Given the description of an element on the screen output the (x, y) to click on. 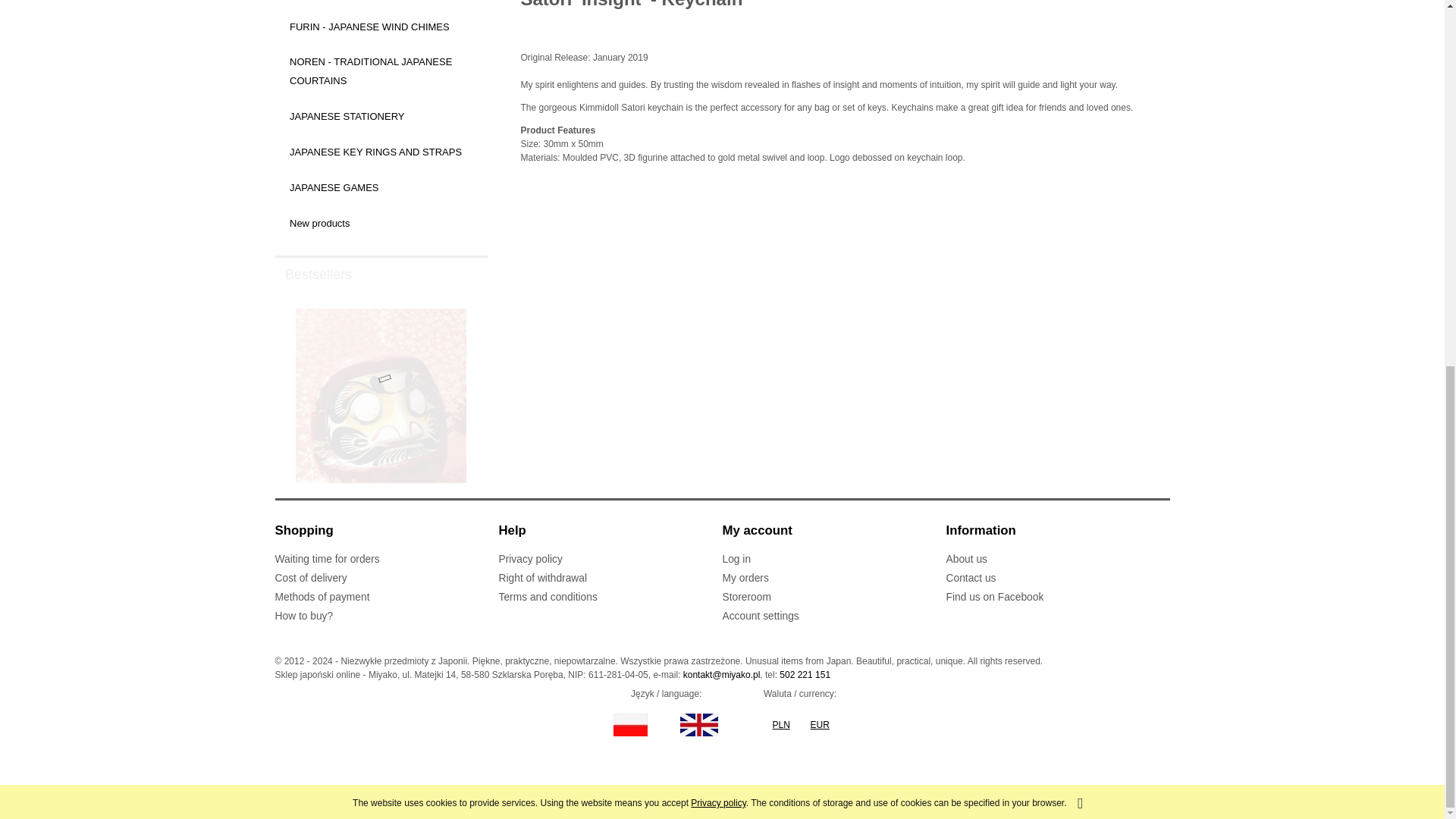
JAPANESE FANS AND UMBRELLAS (380, 4)
NOREN - TRADITIONAL JAPANESE COURTAINS (380, 72)
JAPANESE STATIONERY (380, 117)
FURIN - JAPANESE WIND CHIMES (380, 27)
JAPANESE FANS AND UMBRELLAS (380, 4)
JAPANESE KEY RINGS AND STRAPS (380, 152)
Privacy policy (717, 143)
New products (380, 222)
JAPANESE GAMES (380, 187)
FURIN - JAPANESE WIND CHIMES (380, 27)
